Given the description of an element on the screen output the (x, y) to click on. 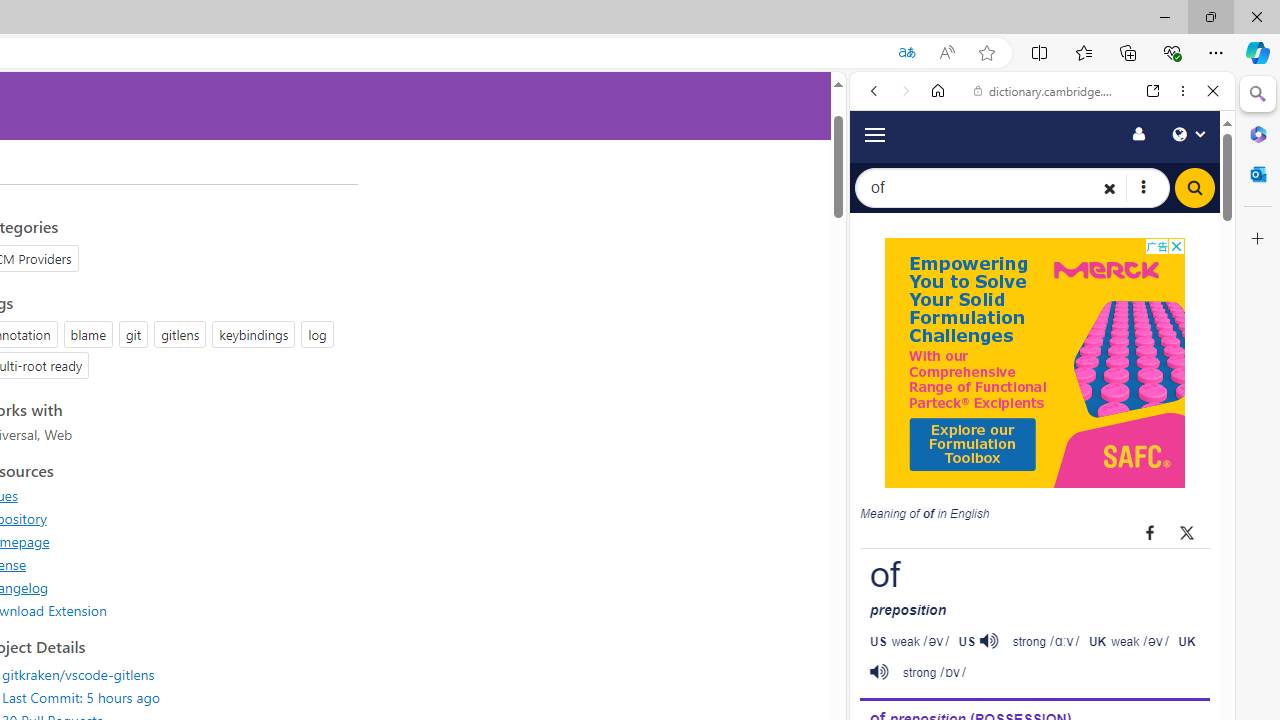
English (Uk) (1042, 622)
This site scope (936, 180)
Search the web (1051, 137)
Advertisement (1034, 363)
WEB   (882, 339)
